Given the description of an element on the screen output the (x, y) to click on. 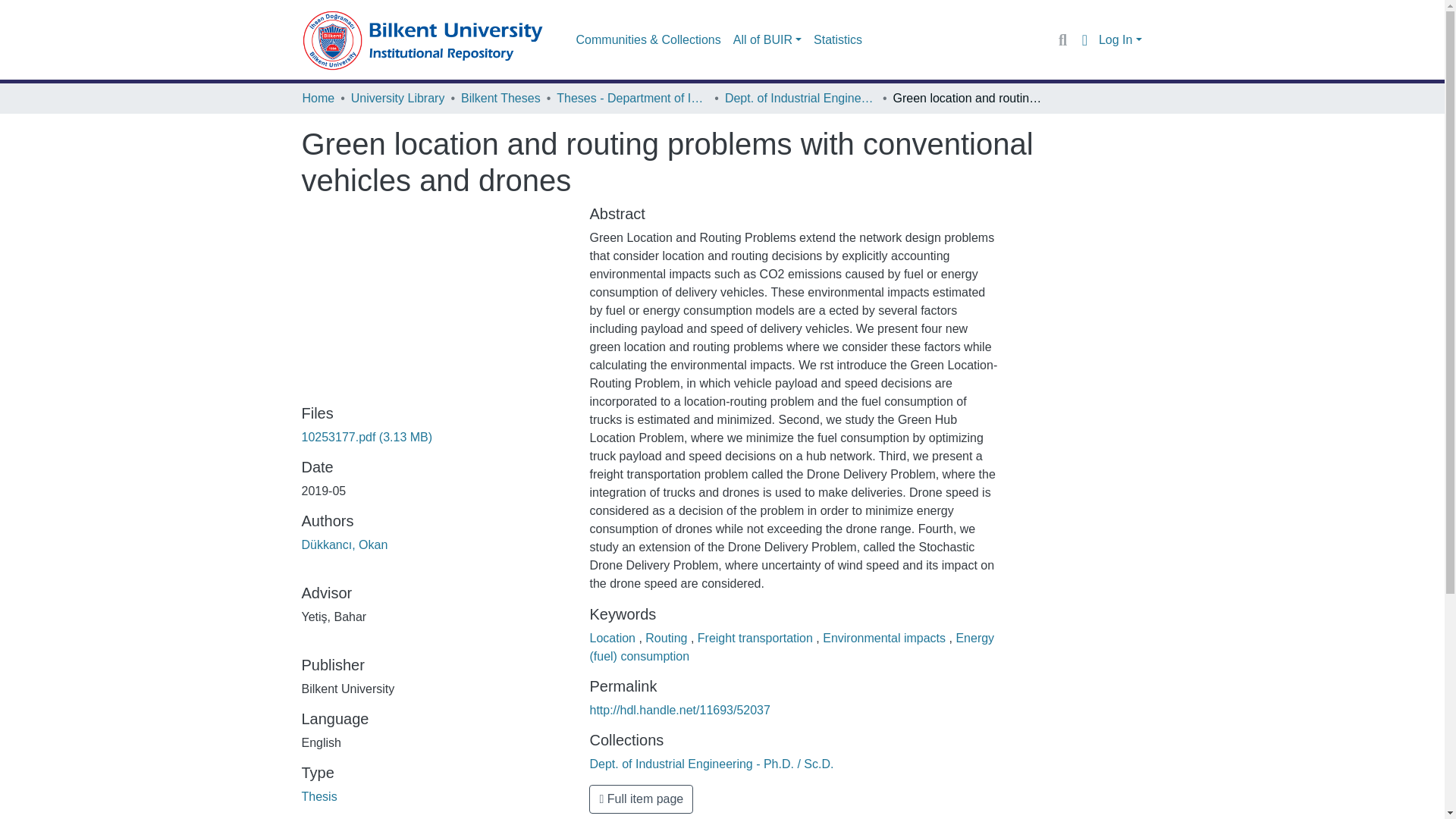
University Library (397, 98)
Freight transportation (756, 637)
Routing (667, 637)
Full item page (641, 799)
Statistics (837, 40)
Statistics (837, 40)
Bilkent Theses (500, 98)
Home (317, 98)
Thesis (319, 796)
Language switch (1084, 40)
Theses - Department of Industrial Engineering (631, 98)
Location (614, 637)
All of BUIR (767, 40)
Search (1061, 40)
Log In (1119, 39)
